Given the description of an element on the screen output the (x, y) to click on. 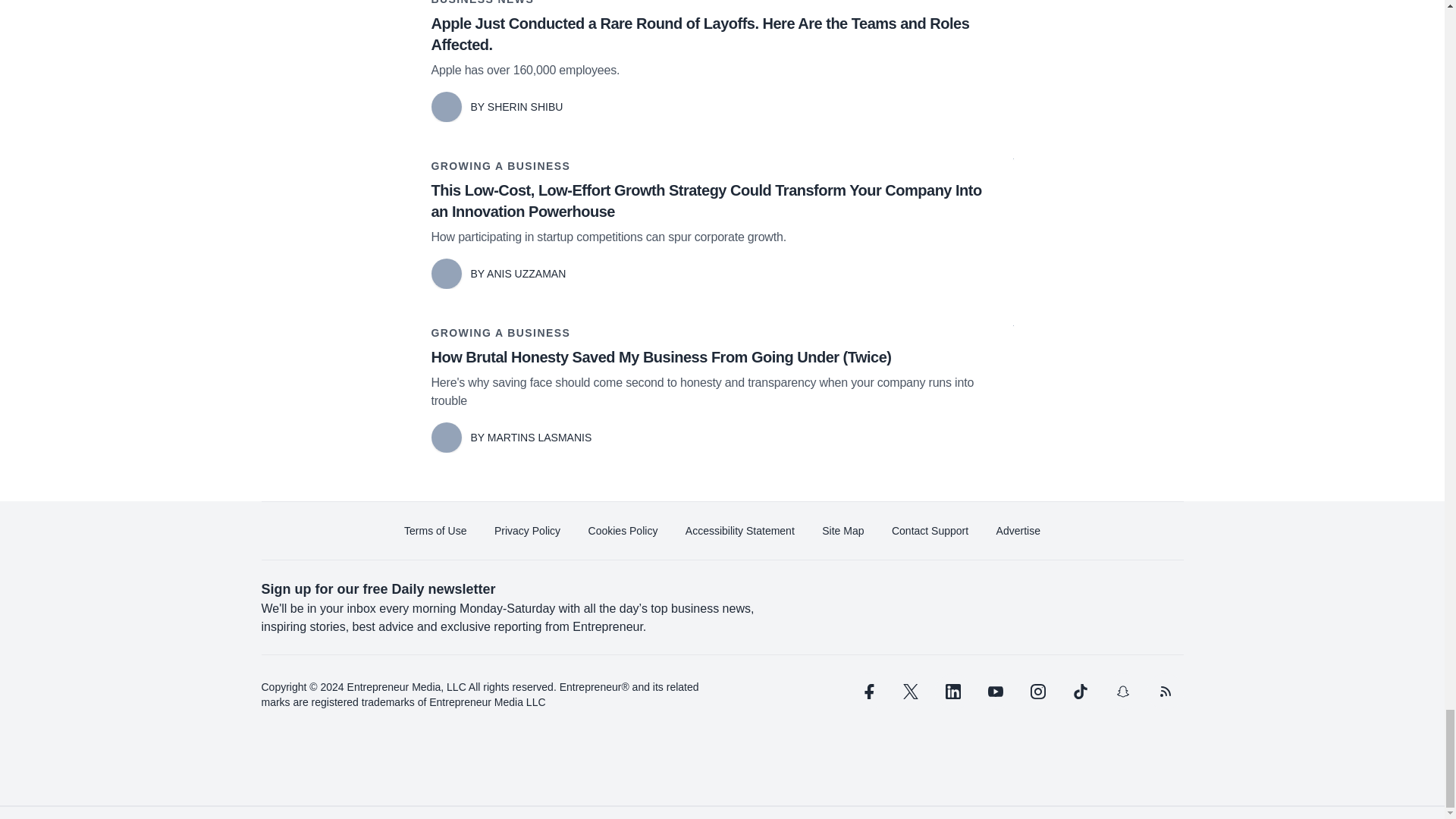
facebook (866, 691)
twitter (909, 691)
tiktok (1079, 691)
snapchat (1121, 691)
instagram (1037, 691)
linkedin (952, 691)
youtube (994, 691)
